Given the description of an element on the screen output the (x, y) to click on. 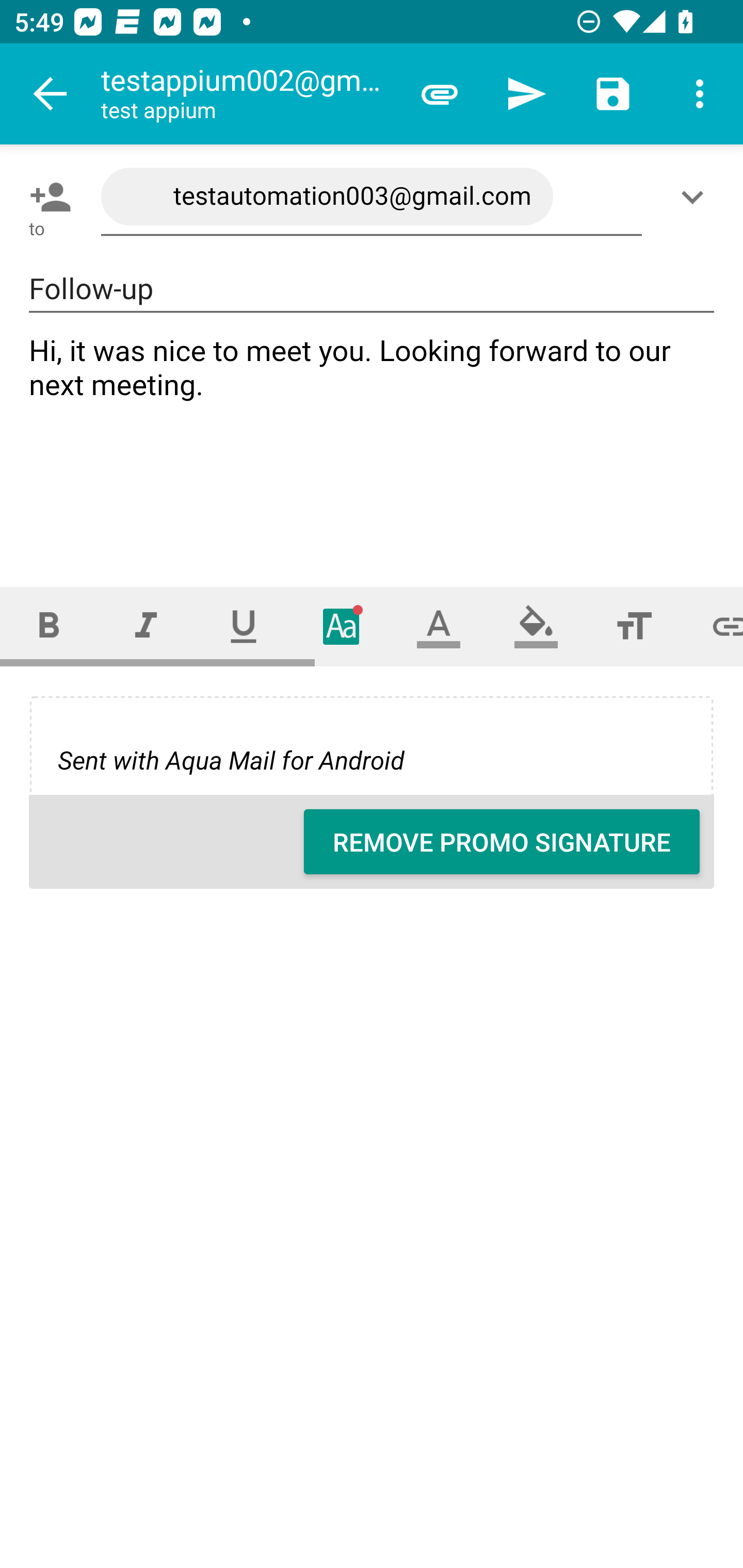
Navigate up (50, 93)
testappium002@gmail.com test appium (248, 93)
Attach (439, 93)
Send (525, 93)
Save (612, 93)
More options (699, 93)
testautomation003@gmail.com,  (371, 197)
Pick contact: To (46, 196)
Show/Add CC/BCC (696, 196)
Follow-up (371, 288)
Bold (48, 626)
Italic (145, 626)
Underline (243, 626)
Typeface (font) (341, 626)
Text color (438, 626)
Fill color (536, 626)
Font size (633, 626)
Set link (712, 626)
REMOVE PROMO SIGNATURE (501, 841)
